Given the description of an element on the screen output the (x, y) to click on. 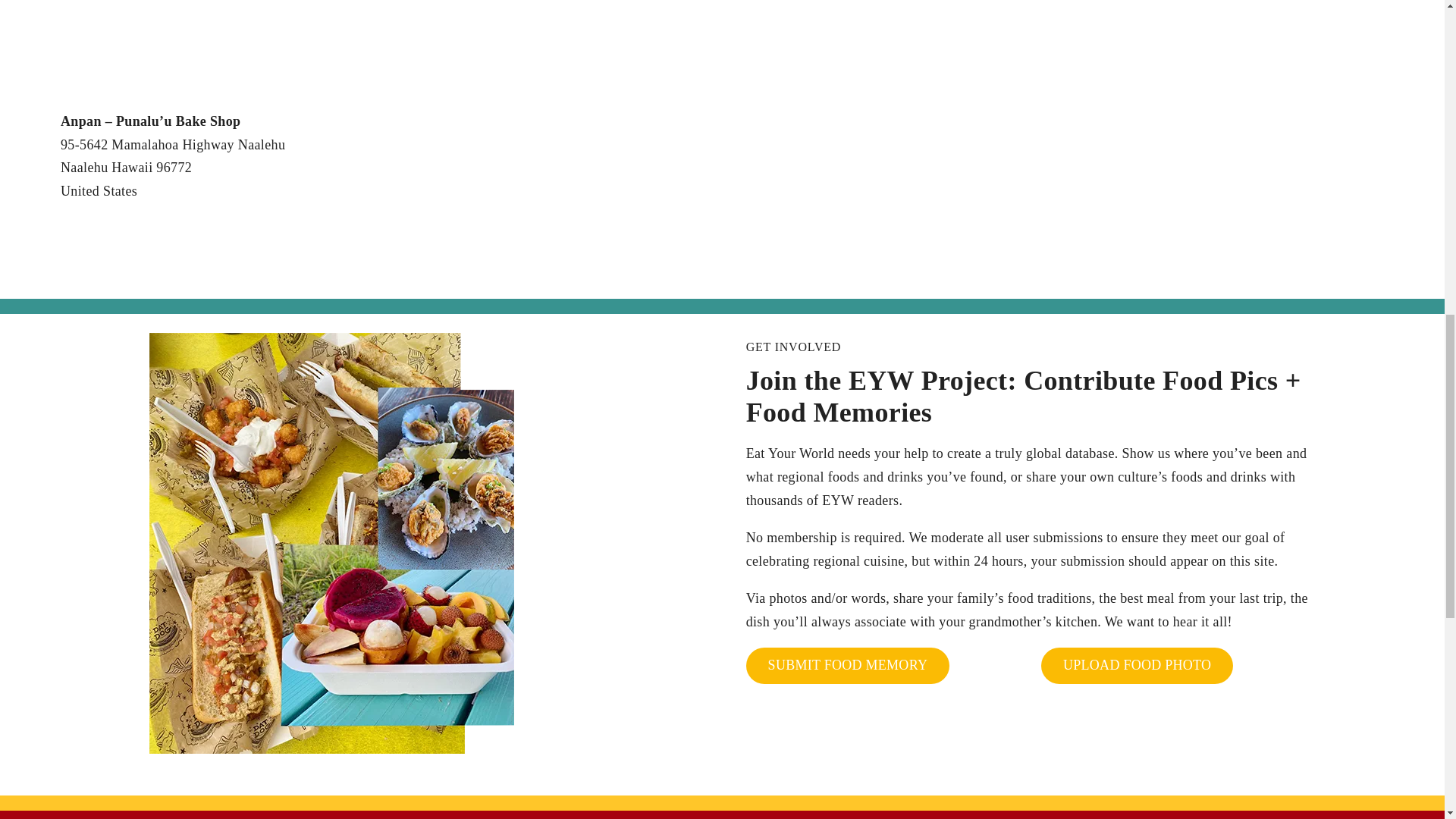
separator plane (689, 256)
